Given the description of an element on the screen output the (x, y) to click on. 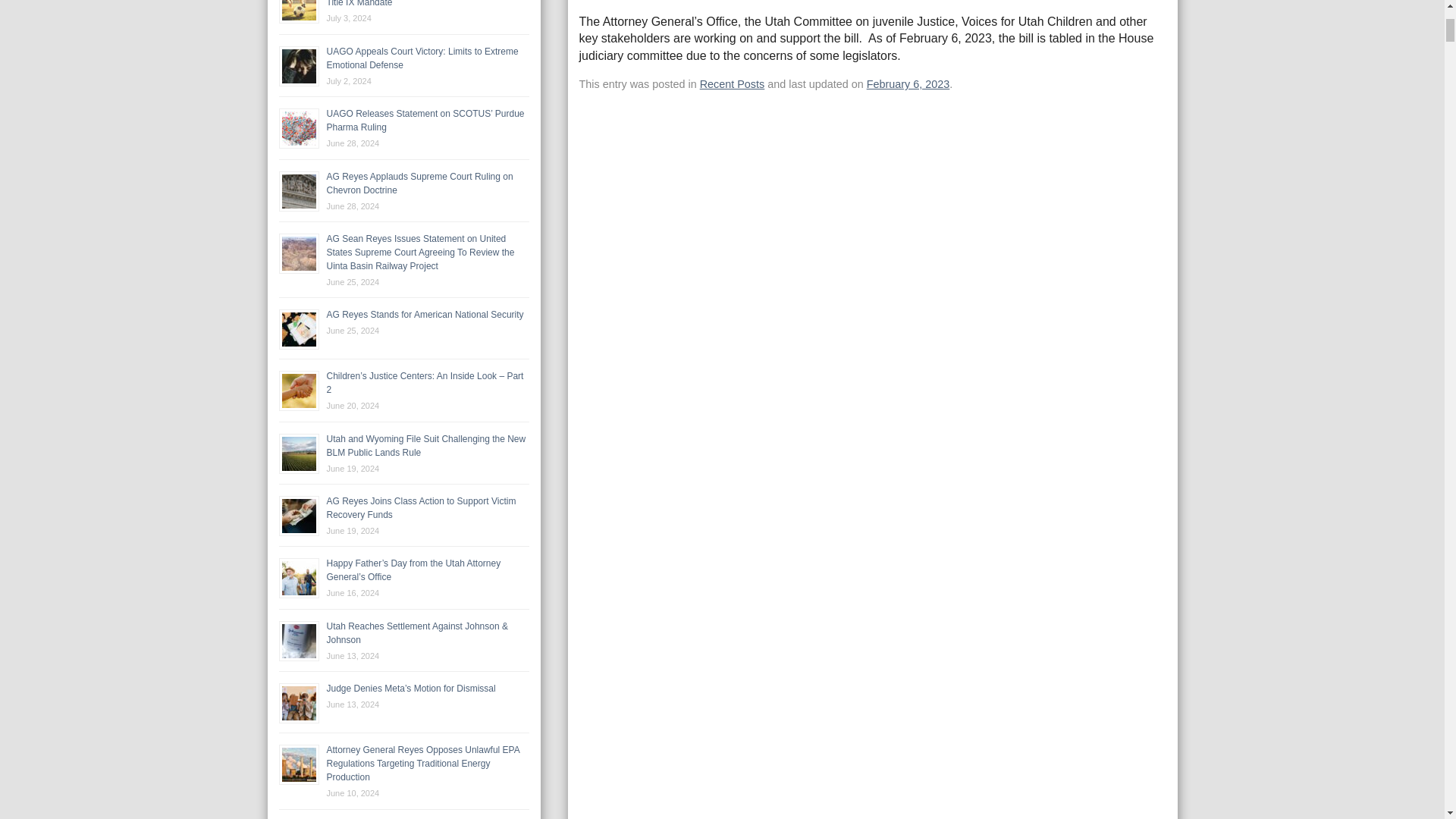
9:27 am (908, 83)
